Given the description of an element on the screen output the (x, y) to click on. 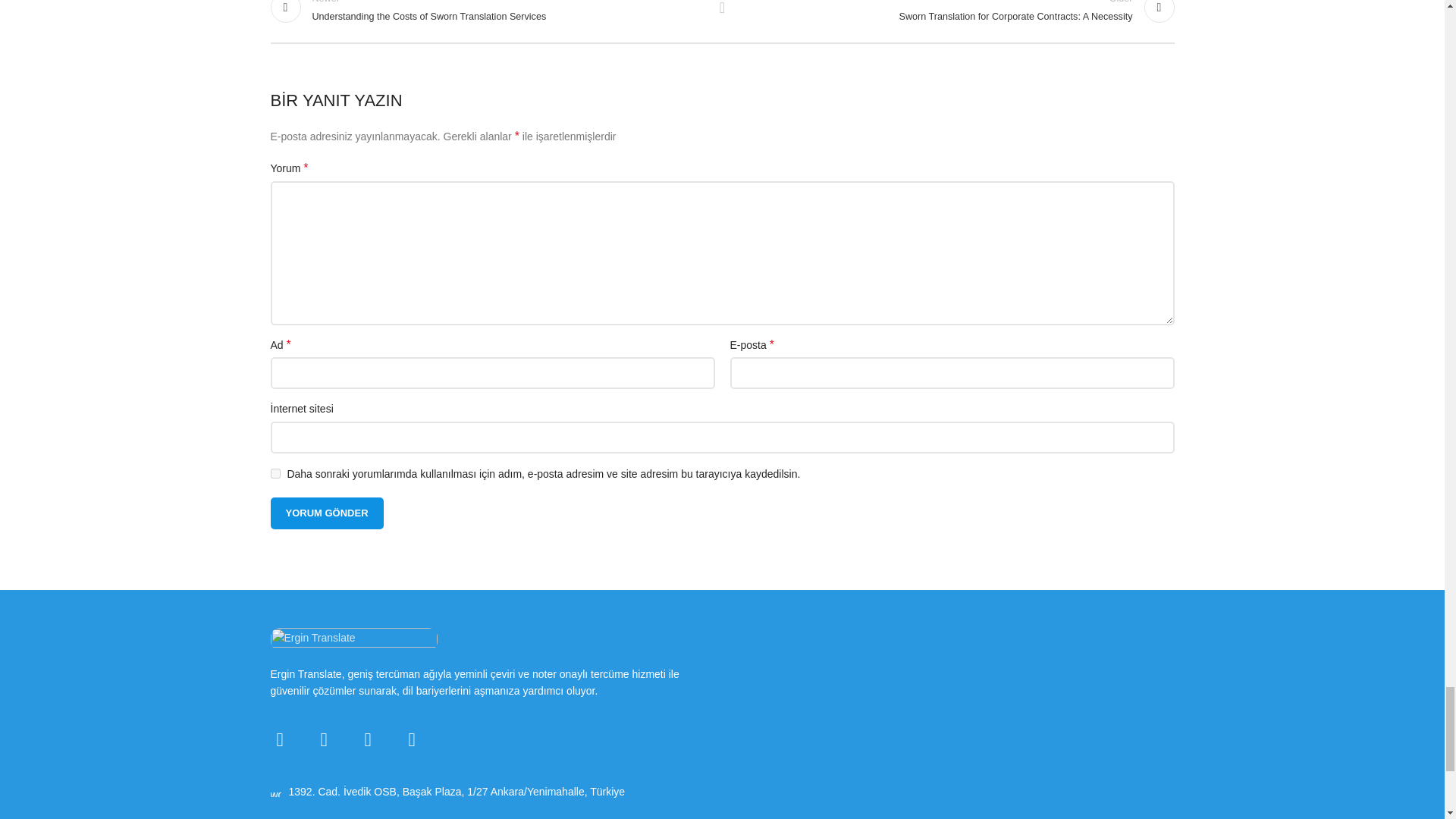
yes (274, 473)
Ergin Translate (352, 639)
wd-cursor-light (275, 791)
